Given the description of an element on the screen output the (x, y) to click on. 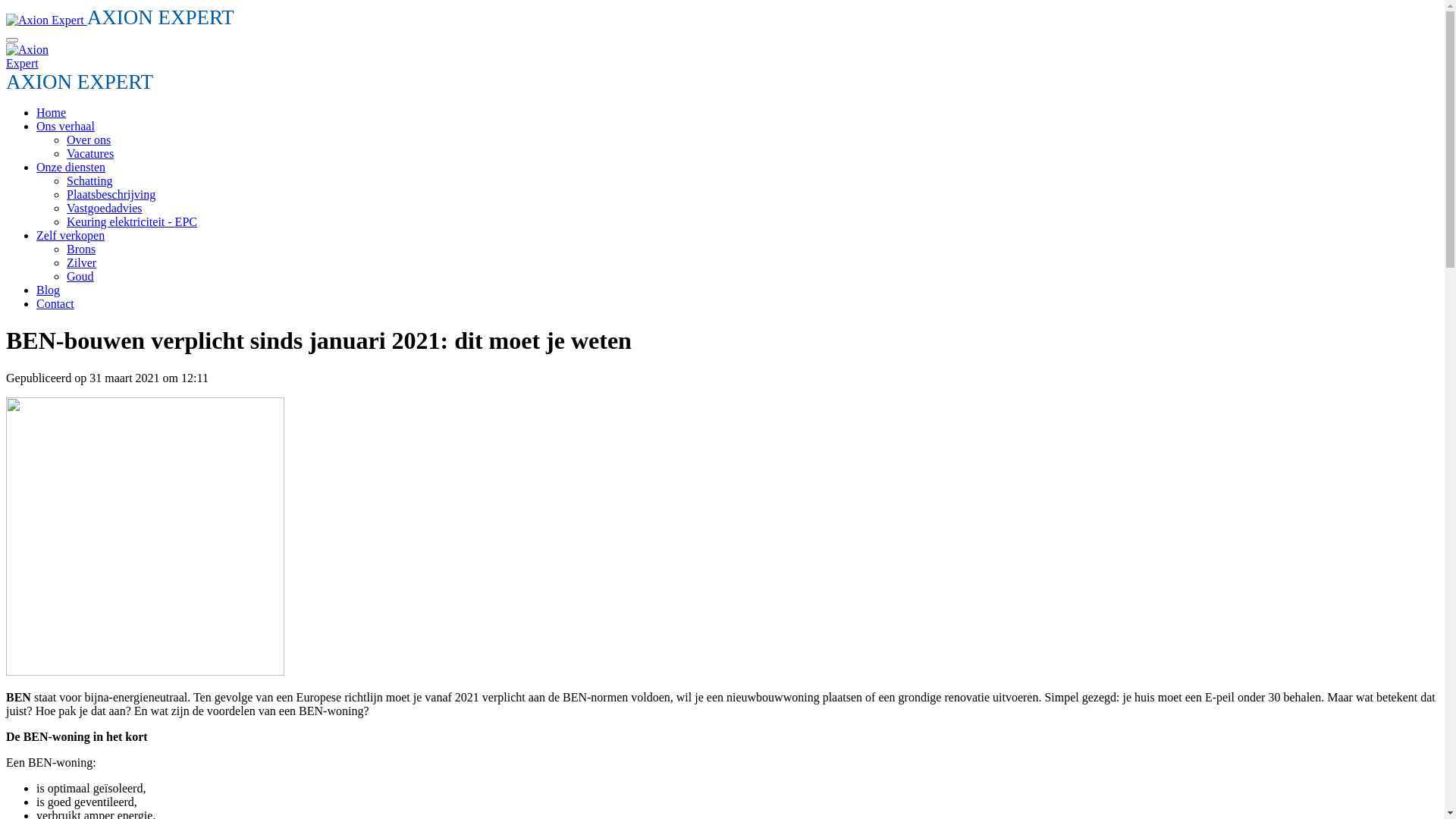
Over ons Element type: text (88, 139)
Schatting Element type: text (89, 180)
Brons Element type: text (80, 248)
Onze diensten Element type: text (70, 166)
Goud Element type: text (80, 275)
Home Element type: text (50, 112)
Keuring elektriciteit - EPC Element type: text (131, 221)
Plaatsbeschrijving Element type: text (110, 194)
Axion Expert Element type: hover (38, 56)
Zelf verkopen Element type: text (70, 235)
AXION EXPERT Element type: text (79, 84)
Zilver Element type: text (81, 262)
Vastgoedadvies Element type: text (104, 207)
Ons verhaal Element type: text (65, 125)
Blog Element type: text (47, 289)
Contact Element type: text (55, 303)
Vacatures Element type: text (89, 153)
Axion Expert Element type: hover (45, 20)
AXION EXPERT Element type: text (120, 19)
